Given the description of an element on the screen output the (x, y) to click on. 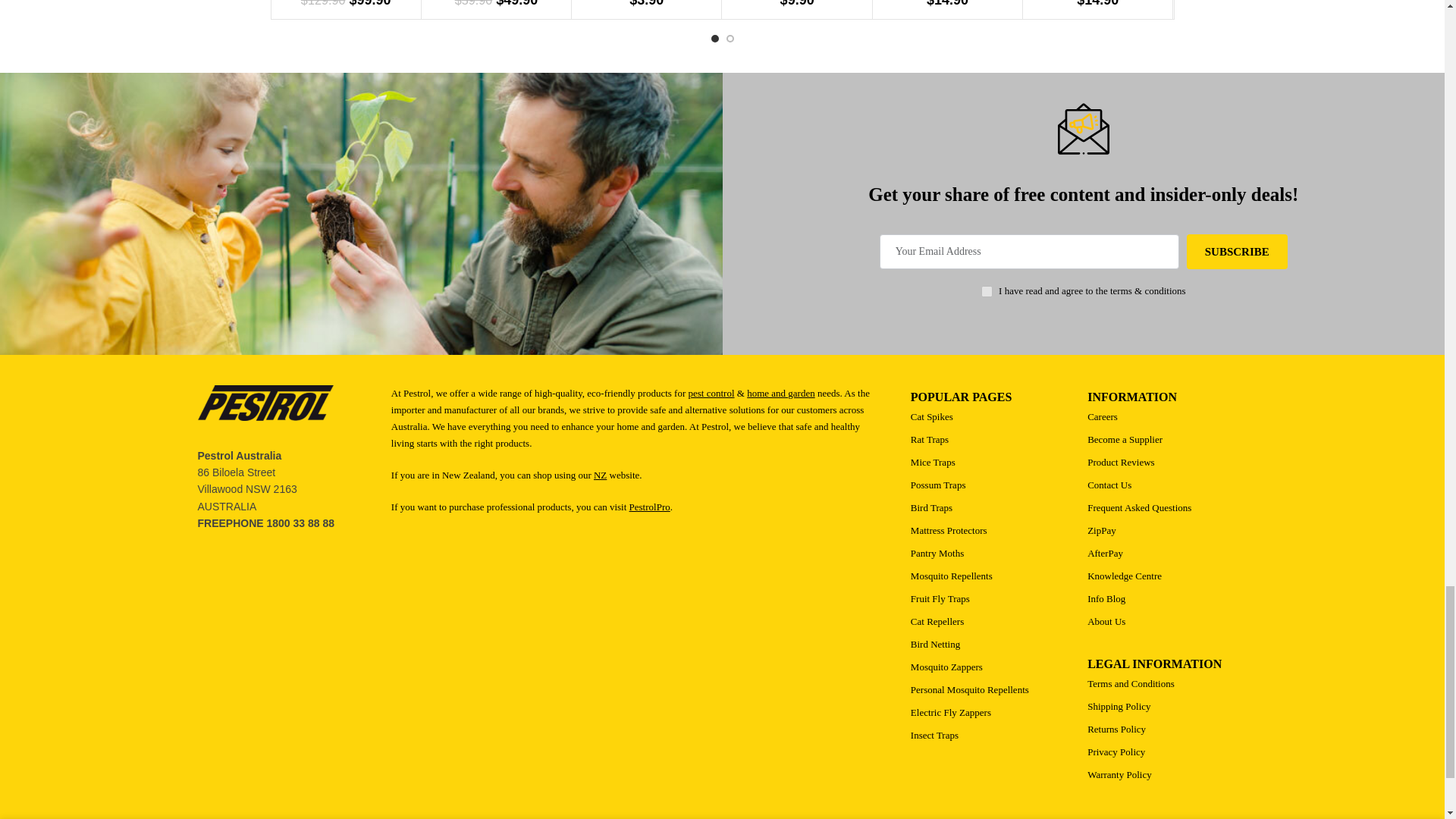
1 (986, 291)
SUBSCRIBE (1236, 251)
